Given the description of an element on the screen output the (x, y) to click on. 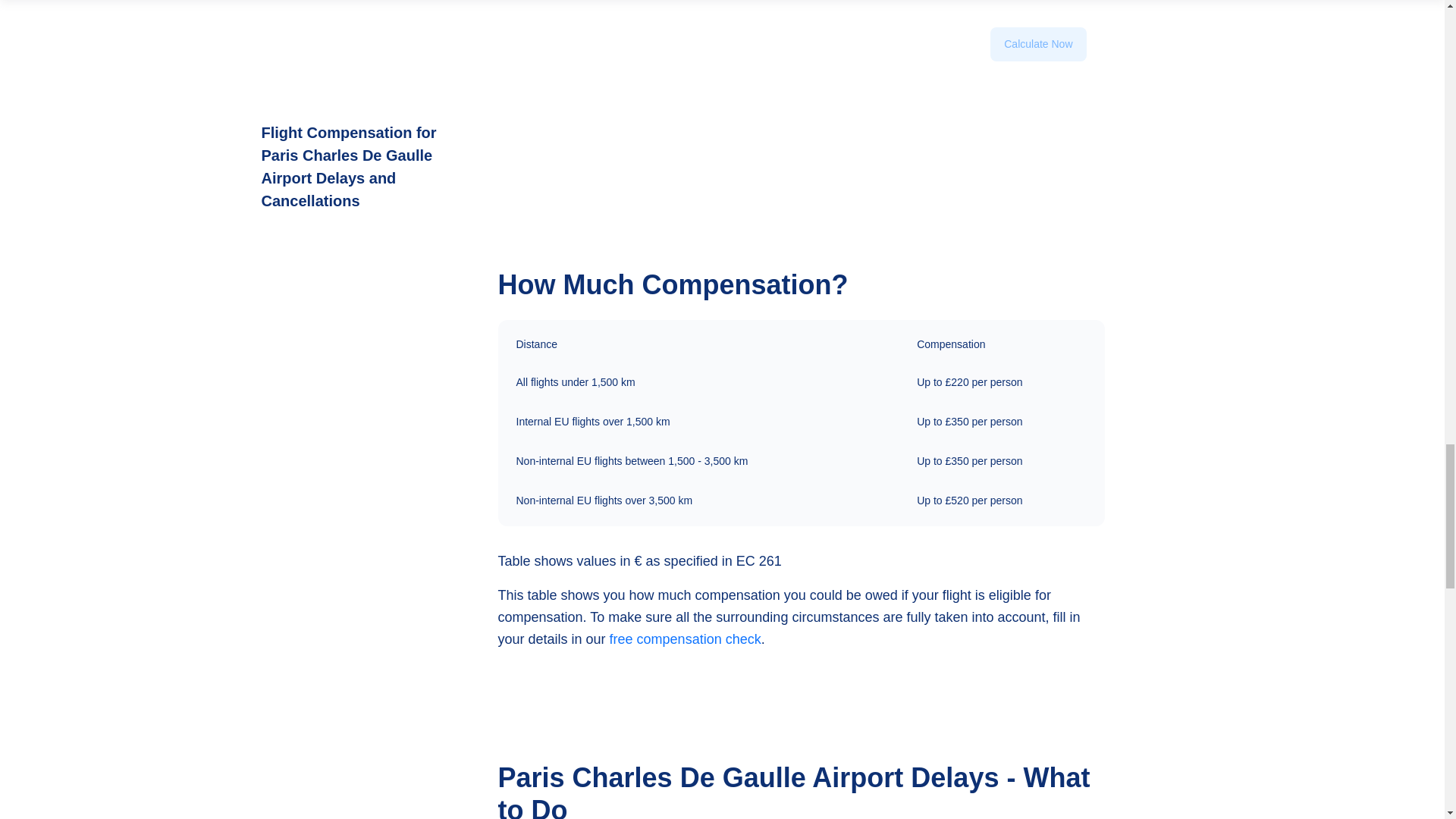
Calculate Now (1038, 67)
free compensation check (685, 639)
Calculate Now (1038, 44)
